Given the description of an element on the screen output the (x, y) to click on. 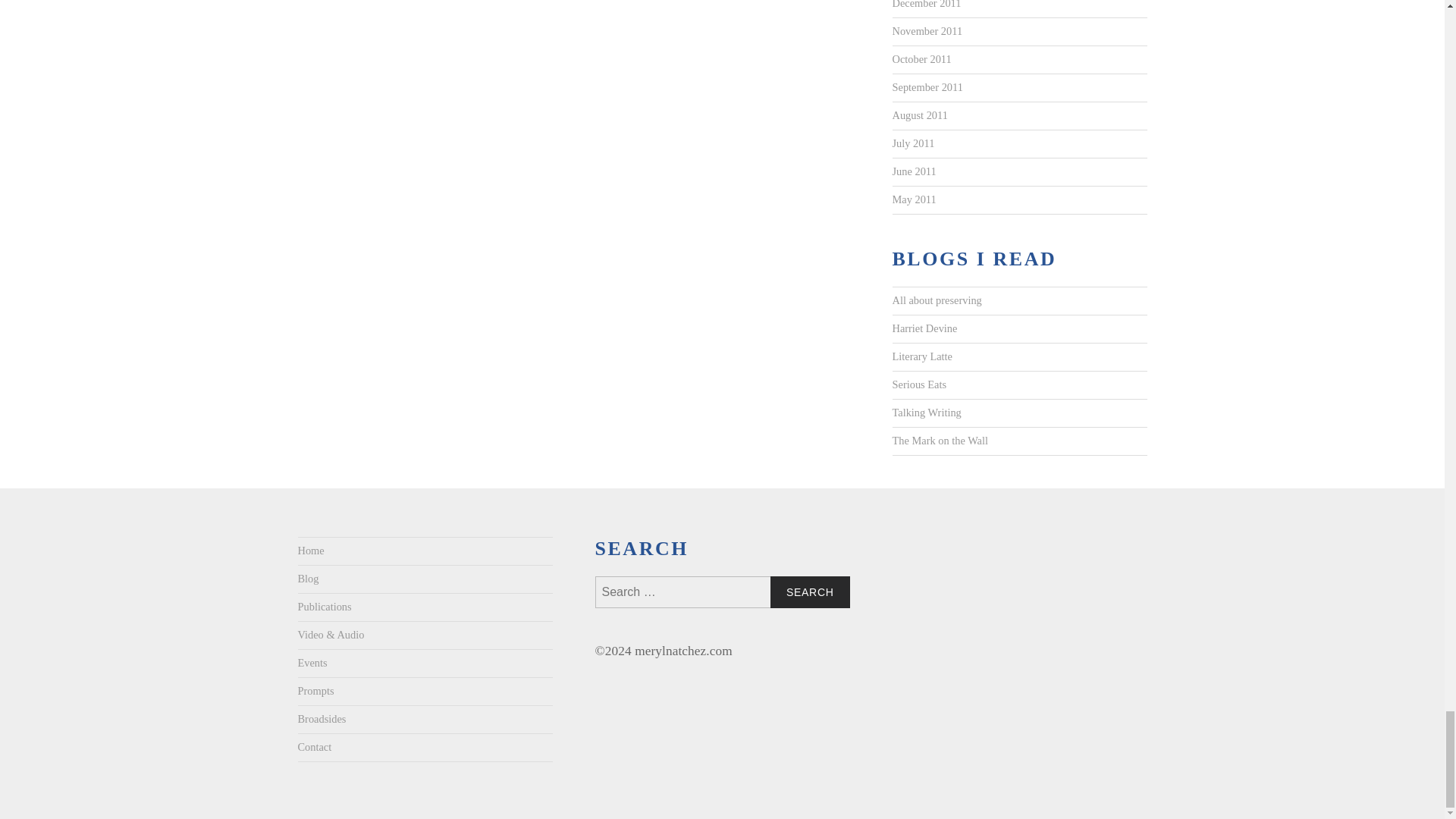
Search (810, 592)
Online literary magazine with work I like! (921, 356)
Orange County Literary Blog (939, 440)
Search (810, 592)
